Given the description of an element on the screen output the (x, y) to click on. 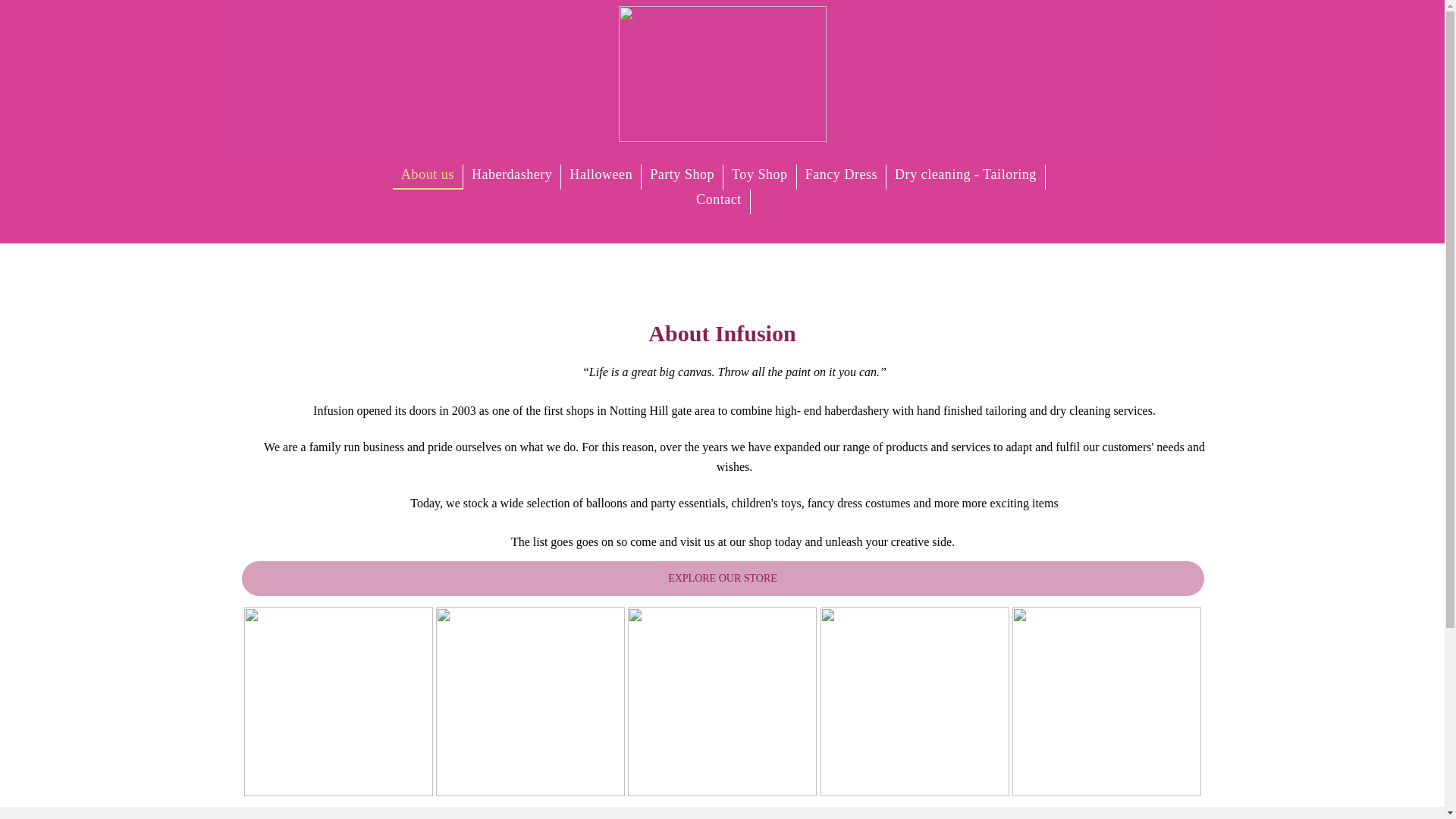
About us (428, 176)
EXPLORE OUR STORE (723, 578)
Fancy Dress (841, 176)
Halloween (601, 176)
Haberdashery (511, 176)
Toy Shop (759, 176)
Party Shop (682, 176)
Contact (719, 201)
Dry cleaning - Tailoring (965, 176)
